Given the description of an element on the screen output the (x, y) to click on. 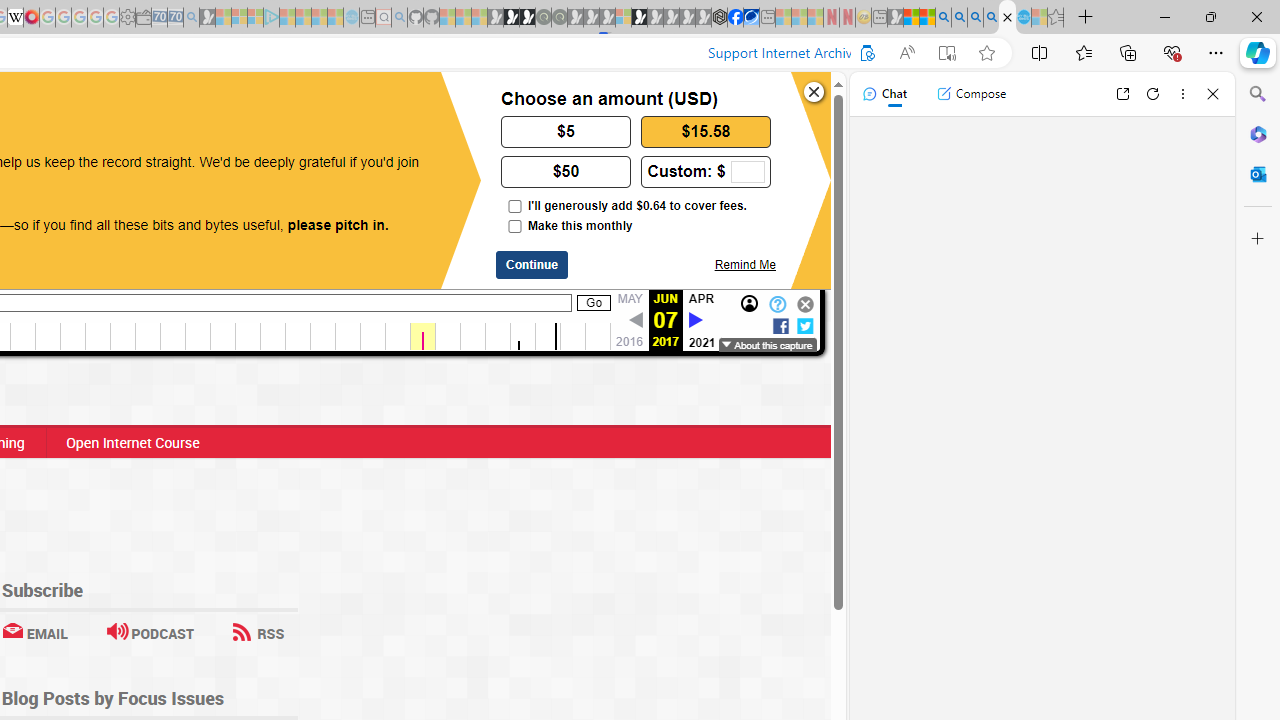
Open Internet Course (132, 442)
